Given the description of an element on the screen output the (x, y) to click on. 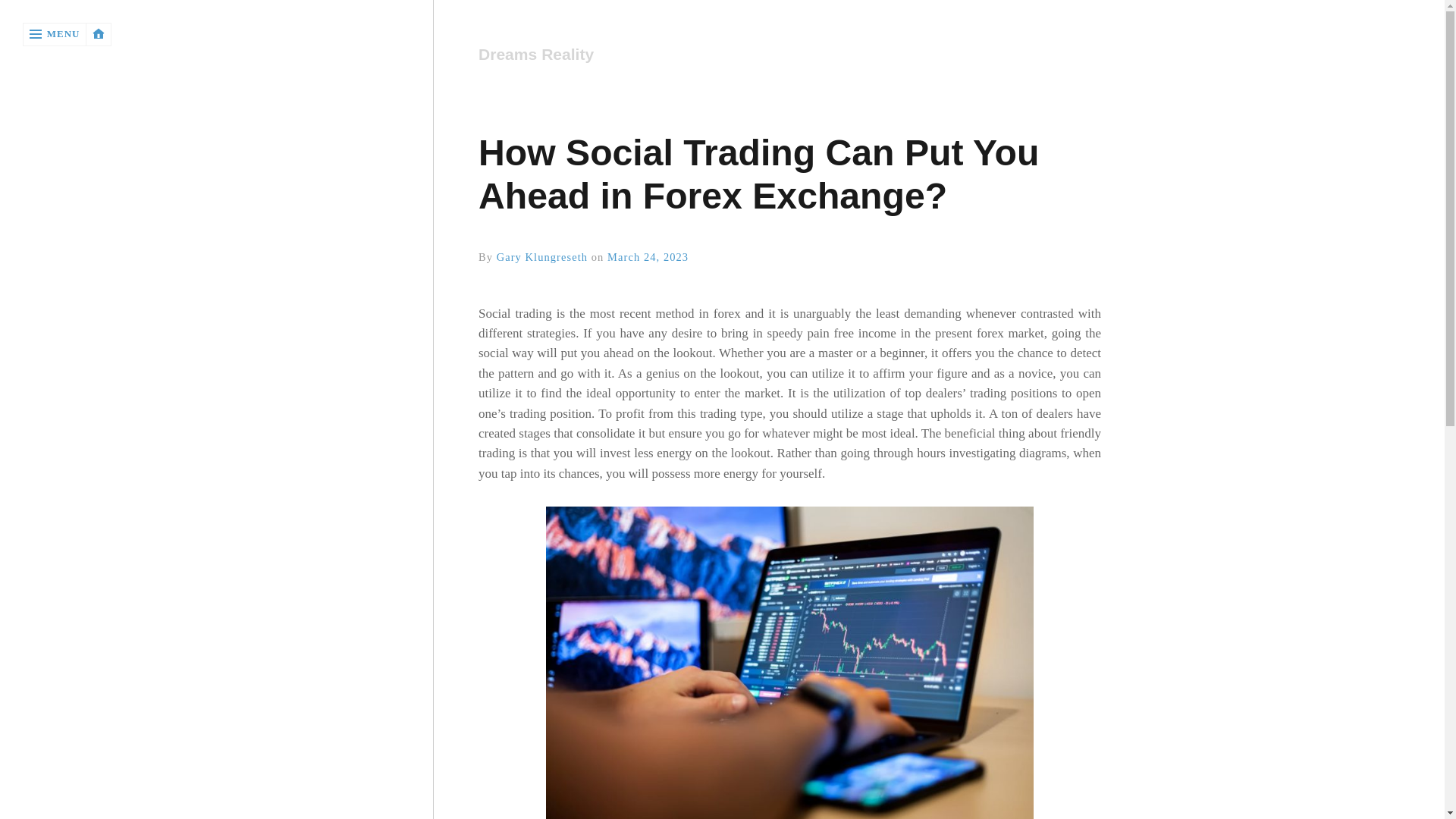
View all posts by Gary Klungreseth (542, 256)
Home (788, 54)
Gary Klungreseth (542, 256)
March 24, 2023 (647, 256)
MENU (55, 33)
Dreams Reality (781, 54)
8:42 am (647, 256)
